Given the description of an element on the screen output the (x, y) to click on. 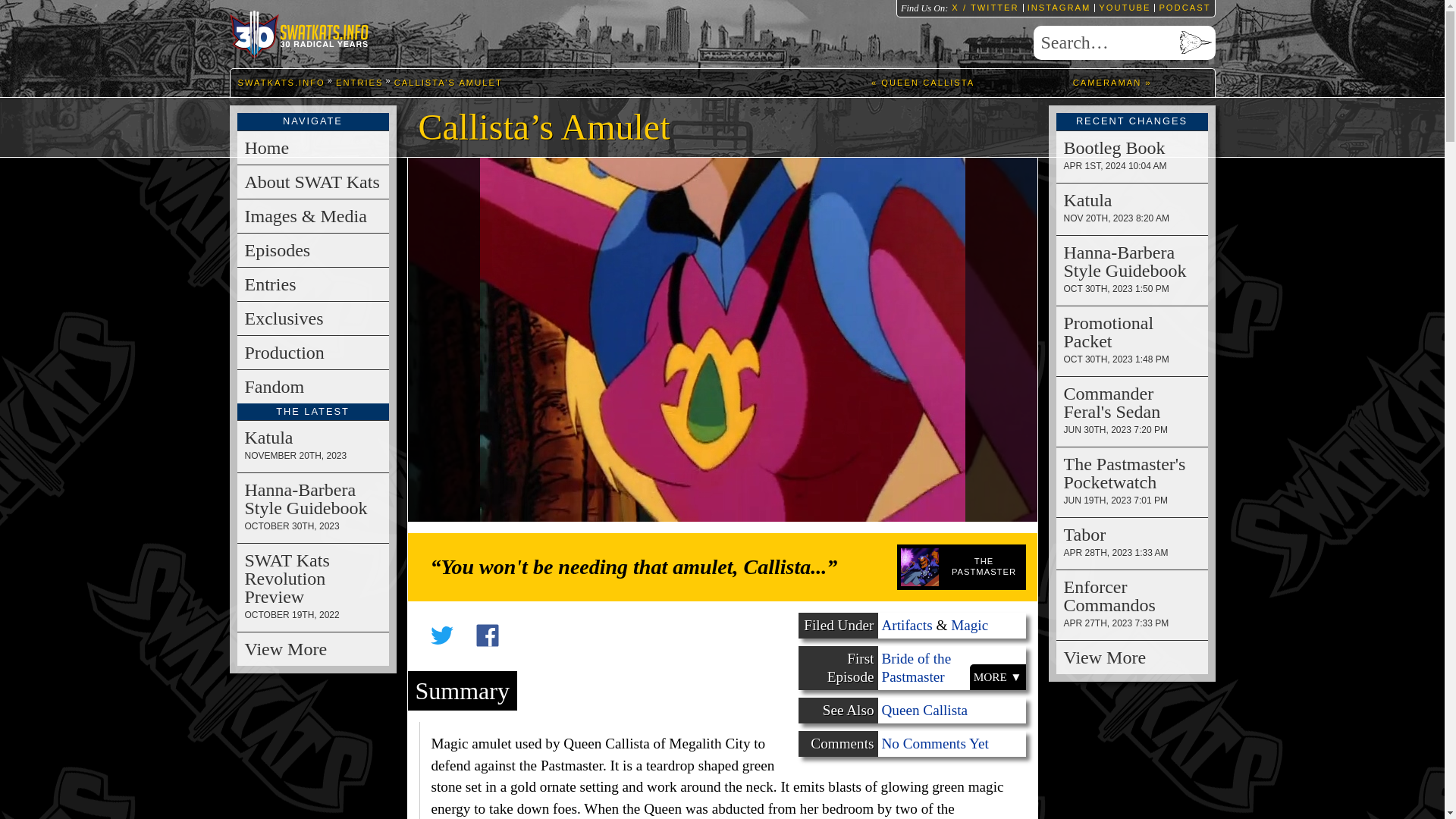
YouTube (1122, 8)
Instagram (1056, 8)
Podcast (1181, 8)
